Given the description of an element on the screen output the (x, y) to click on. 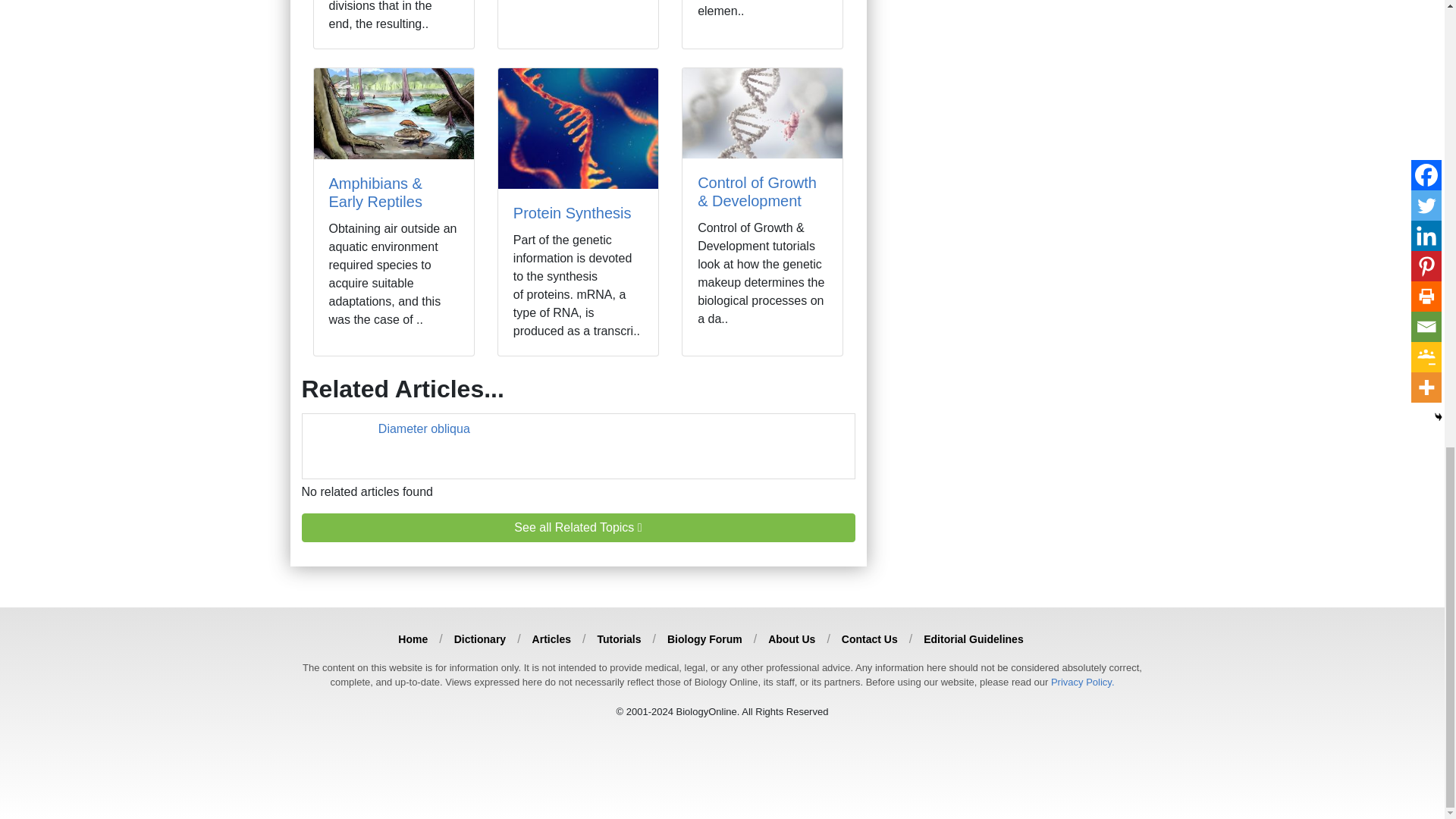
Diameter obliqua (424, 428)
See all Related Topics (578, 527)
Protein Synthesis (572, 212)
Dictionary (479, 639)
Home (412, 639)
